Given the description of an element on the screen output the (x, y) to click on. 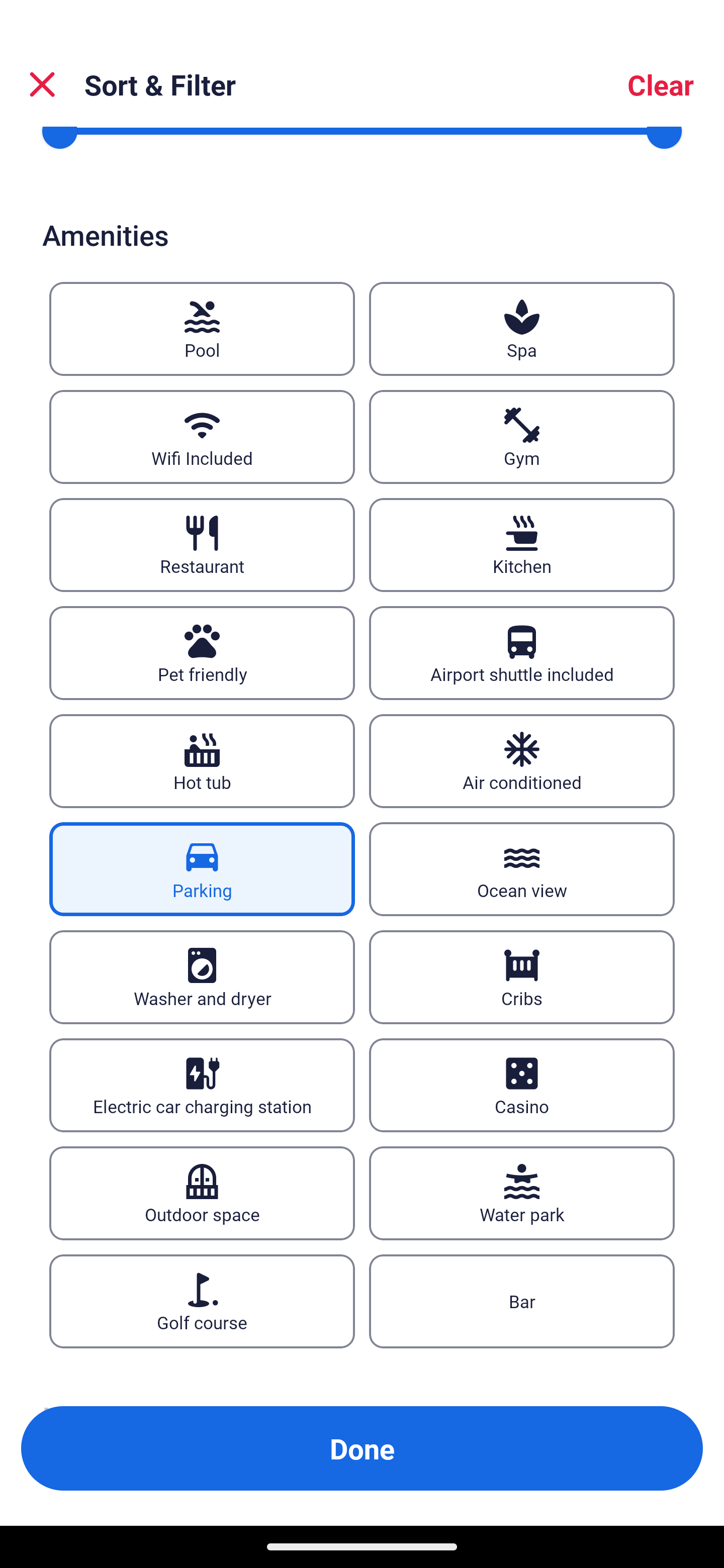
Close Sort and Filter (42, 84)
Clear (660, 84)
Pool (201, 329)
Spa (521, 329)
Wifi Included (201, 437)
Gym (521, 437)
Restaurant (201, 545)
Kitchen (521, 545)
Pet friendly (201, 652)
Airport shuttle included (521, 652)
Hot tub (201, 760)
Air conditioned (521, 760)
Parking (201, 868)
Ocean view (521, 868)
Washer and dryer (201, 976)
Cribs (521, 976)
Electric car charging station (201, 1085)
Casino (521, 1085)
Outdoor space (201, 1193)
Water park (521, 1193)
Golf course (201, 1301)
Bar (521, 1301)
Apply and close Sort and Filter Done (361, 1448)
